Given the description of an element on the screen output the (x, y) to click on. 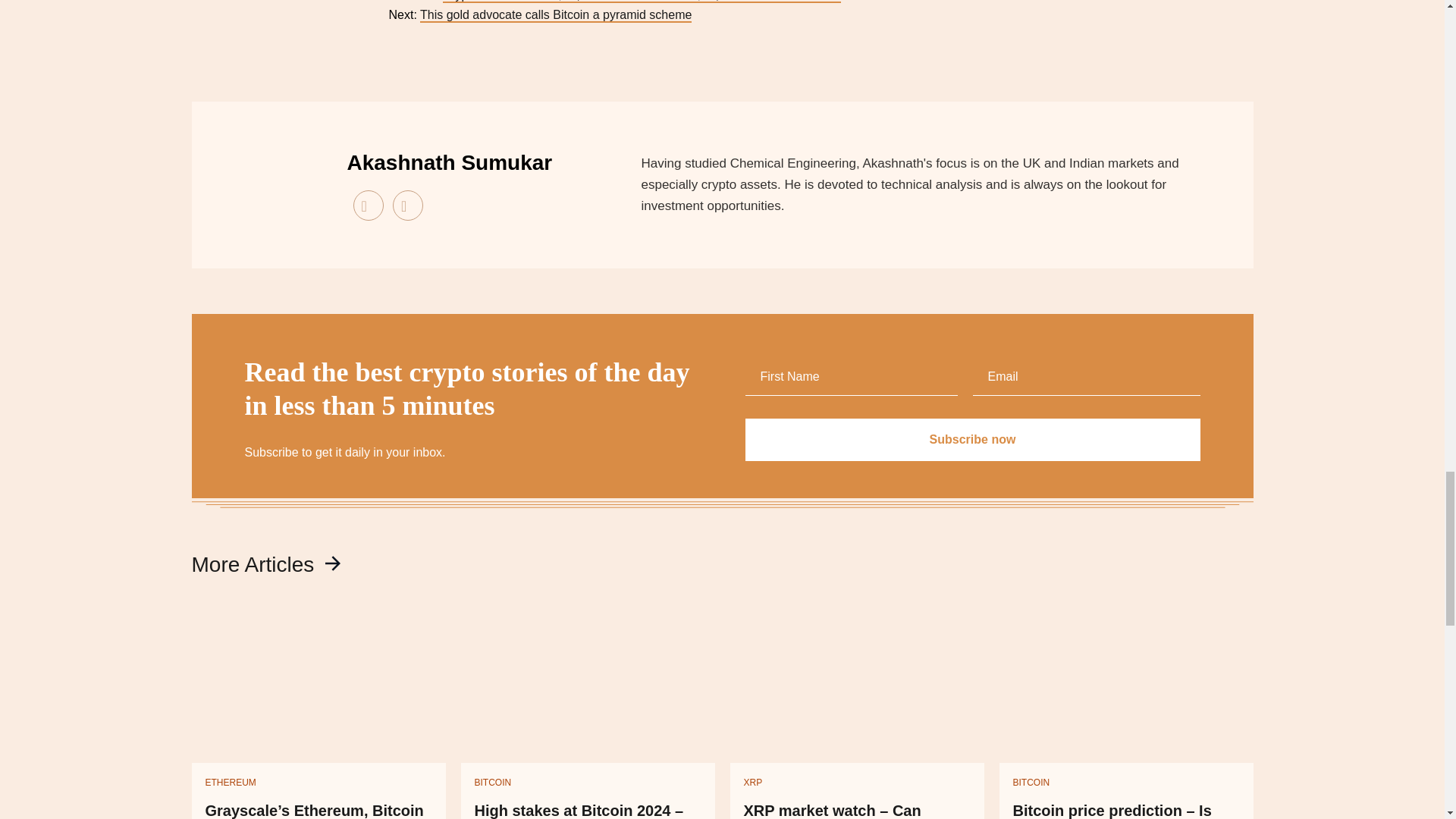
Posts by Akashnath Sumukar (450, 162)
Subscribe now (971, 439)
